Given the description of an element on the screen output the (x, y) to click on. 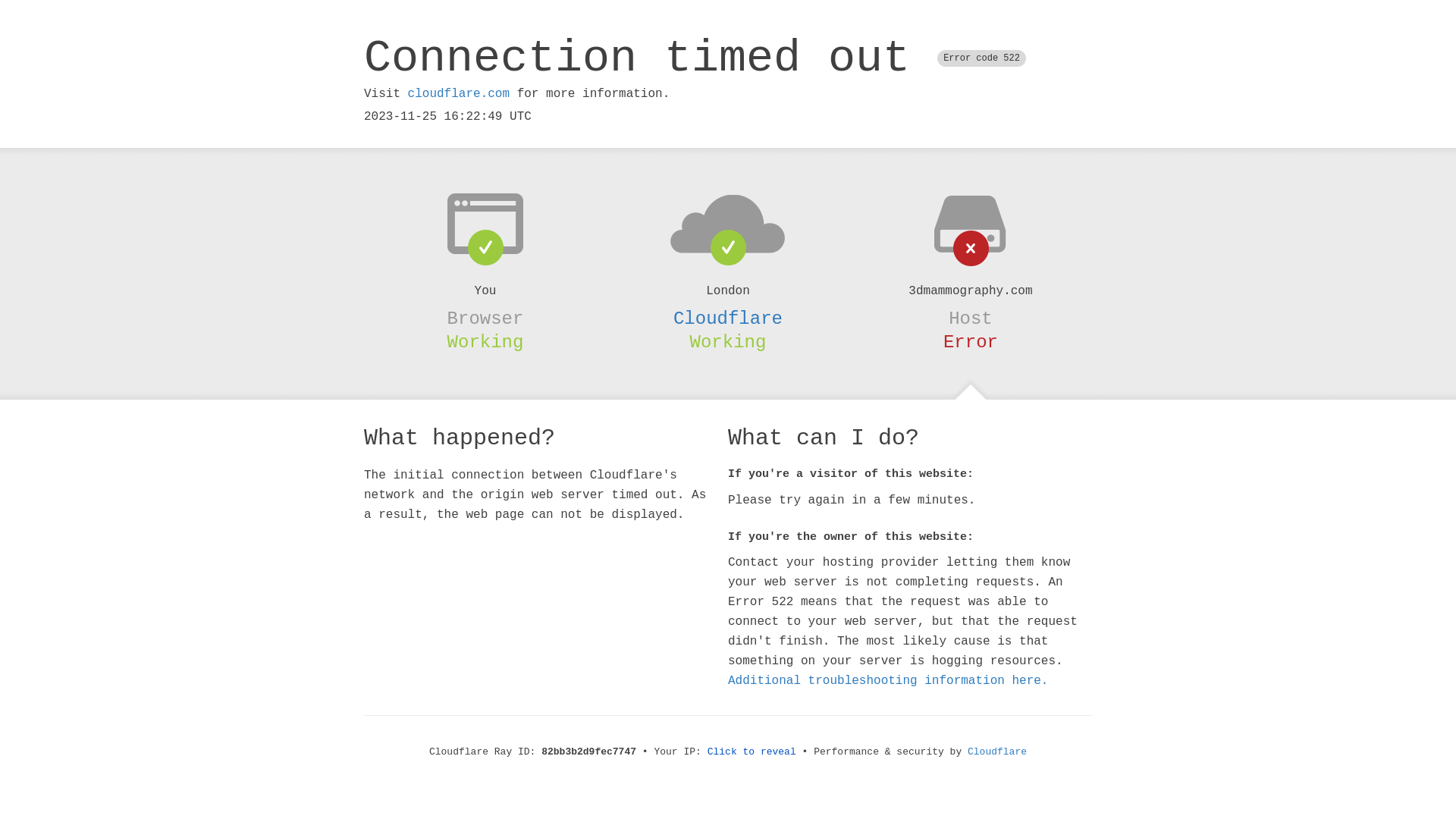
Cloudflare Element type: text (727, 318)
Additional troubleshooting information here. Element type: text (888, 680)
Cloudflare Element type: text (996, 751)
cloudflare.com Element type: text (458, 93)
Click to reveal Element type: text (751, 751)
